Given the description of an element on the screen output the (x, y) to click on. 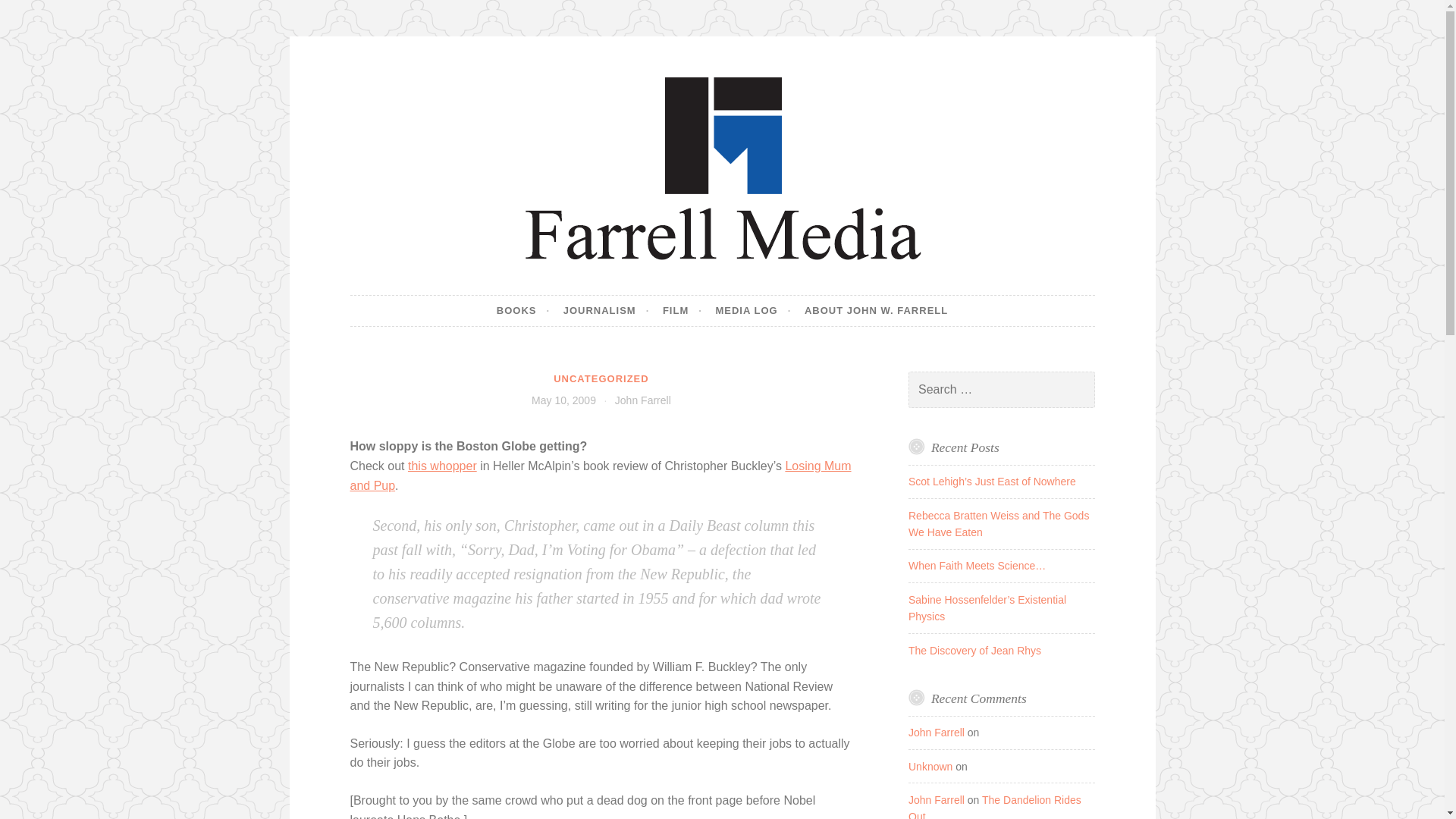
ABOUT JOHN W. FARRELL (876, 310)
MEDIA LOG (752, 310)
UNCATEGORIZED (600, 378)
Losing Mum and Pup (600, 475)
John Farrell (642, 399)
Search (33, 13)
Farrell Media (457, 294)
John Farrell (935, 799)
Rebecca Bratten Weiss and The Gods We Have Eaten (998, 523)
The Dandelion Rides Out (994, 806)
